Given the description of an element on the screen output the (x, y) to click on. 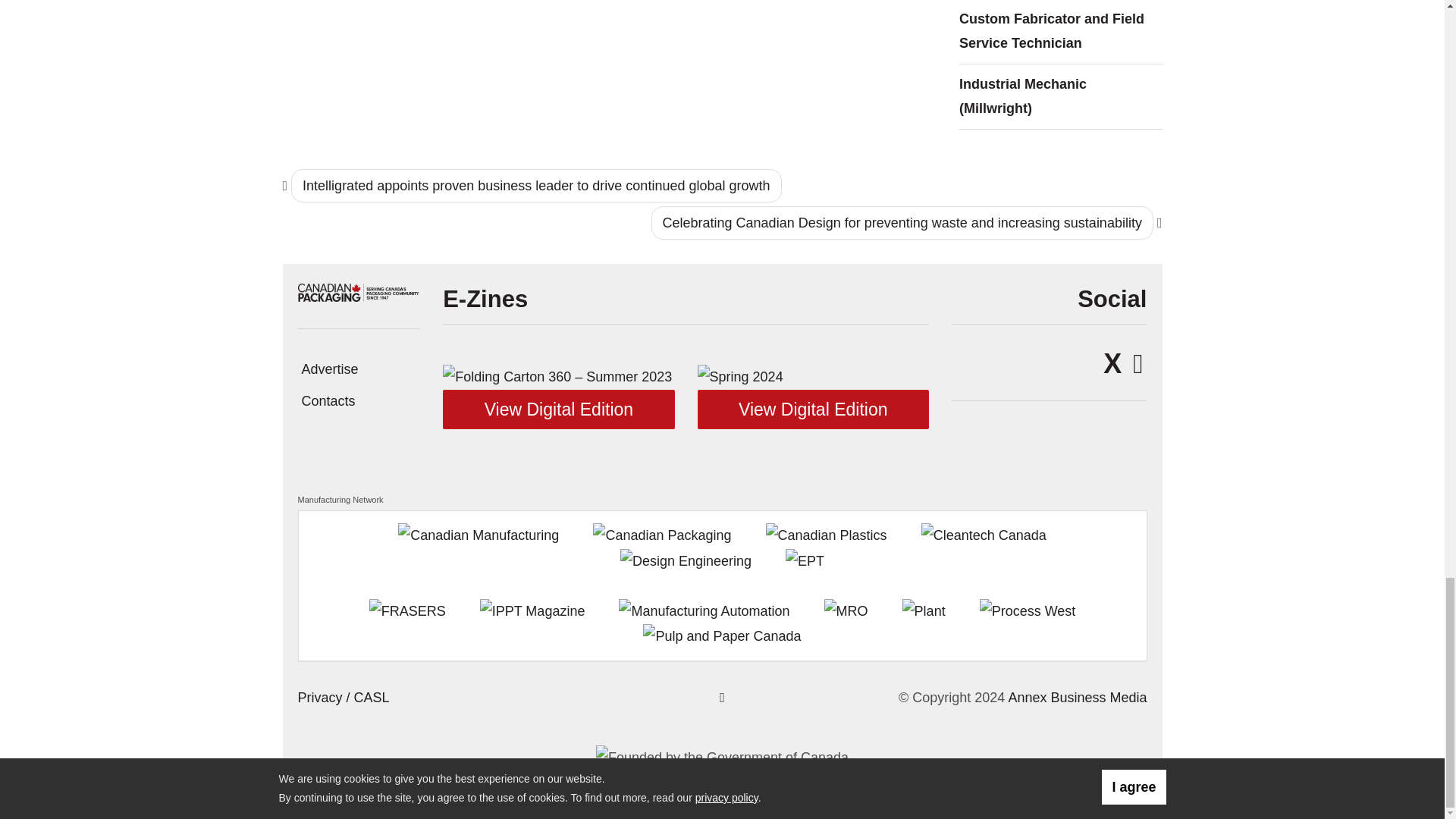
Canadian Packaging (358, 290)
Annex Business Media (1077, 696)
